Given the description of an element on the screen output the (x, y) to click on. 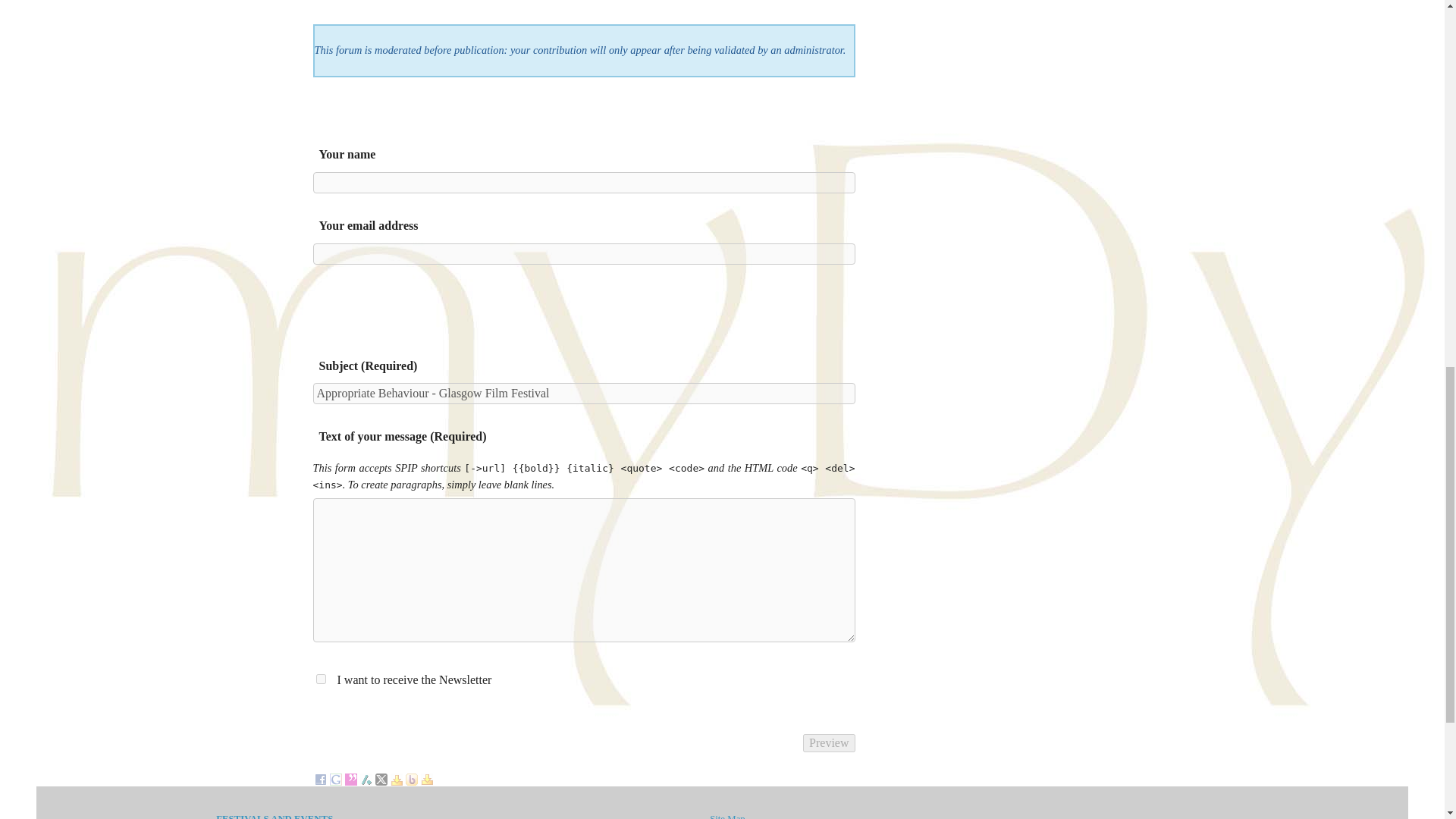
Yahoo! Bookmarks (395, 777)
Yahoo! Buzz (410, 777)
Yahoo! MyWeb (426, 777)
X (380, 777)
Preview (828, 742)
1 (319, 678)
Seenthis (349, 777)
Google bookmarks (334, 777)
Slashdot (365, 777)
FESTIVALS AND EVENTS (274, 816)
Appropriate Behaviour - Glasgow Film Festival  (583, 393)
Facebook (320, 777)
Preview (828, 742)
Preview (828, 742)
